Given the description of an element on the screen output the (x, y) to click on. 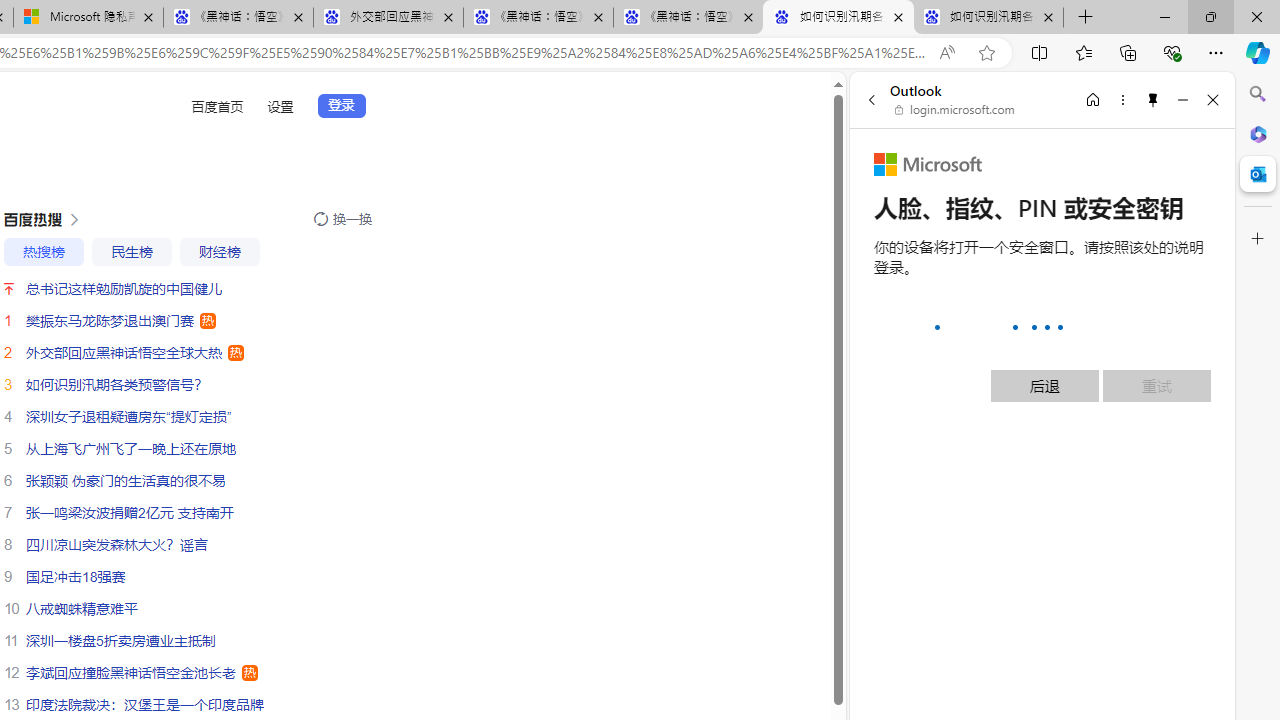
Microsoft (927, 164)
login.microsoft.com (955, 110)
